Given the description of an element on the screen output the (x, y) to click on. 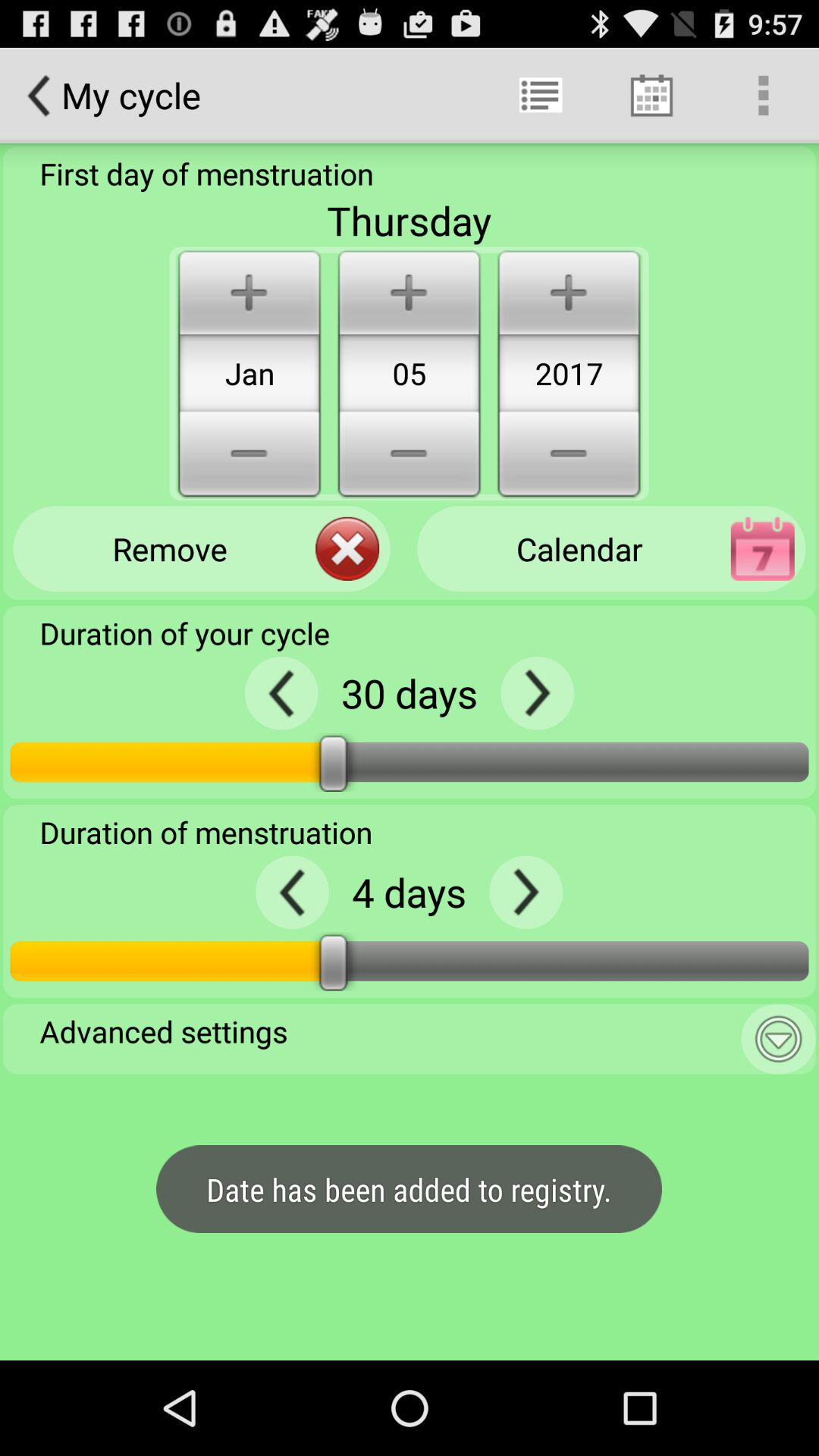
go to next (537, 693)
